Given the description of an element on the screen output the (x, y) to click on. 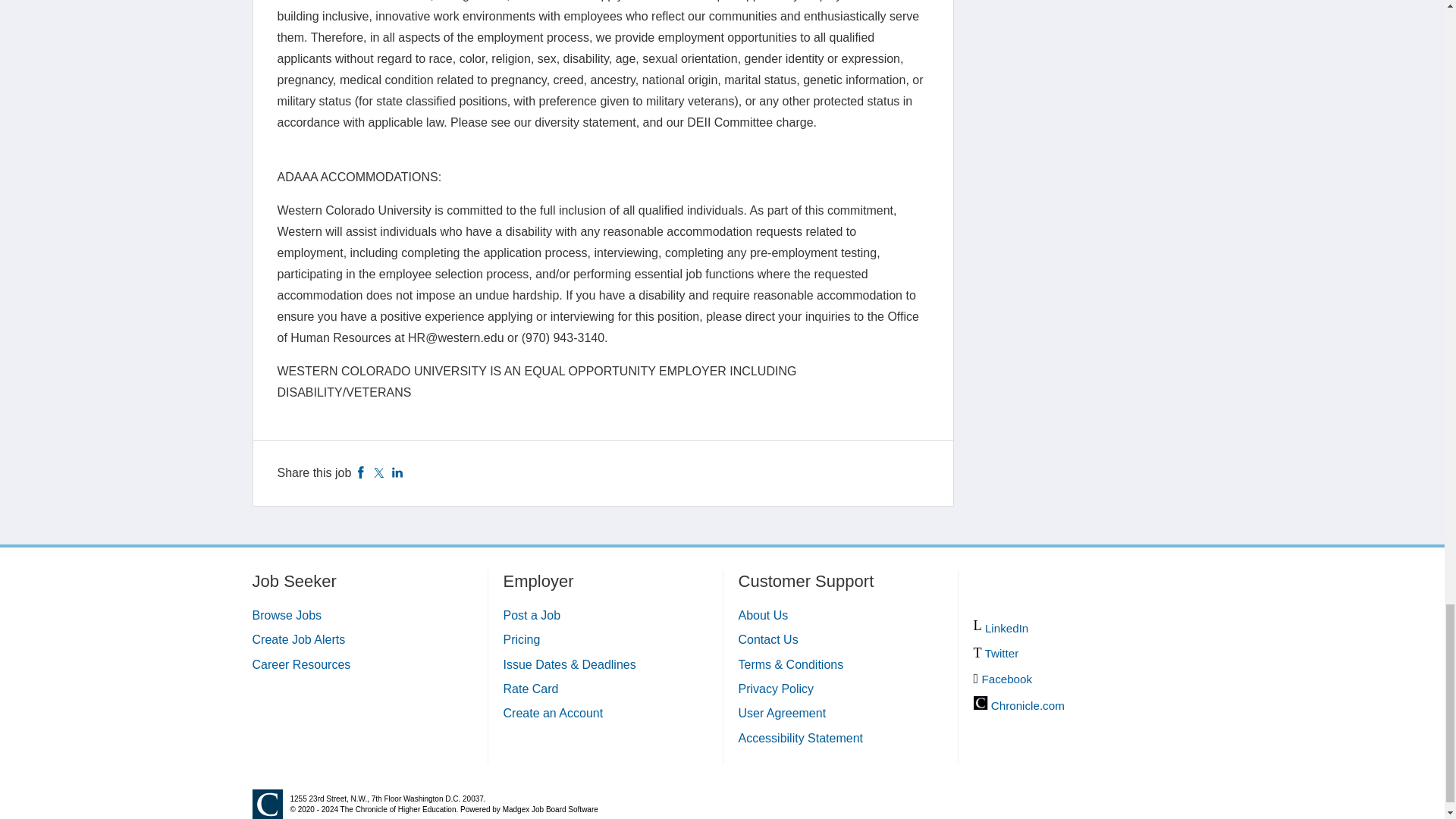
Post a Job (531, 615)
Twitter (378, 472)
Career Resources (300, 664)
Facebook (360, 472)
LinkedIn (397, 472)
Create Job Alerts (298, 639)
Browse Jobs (286, 615)
Pricing (521, 639)
